Given the description of an element on the screen output the (x, y) to click on. 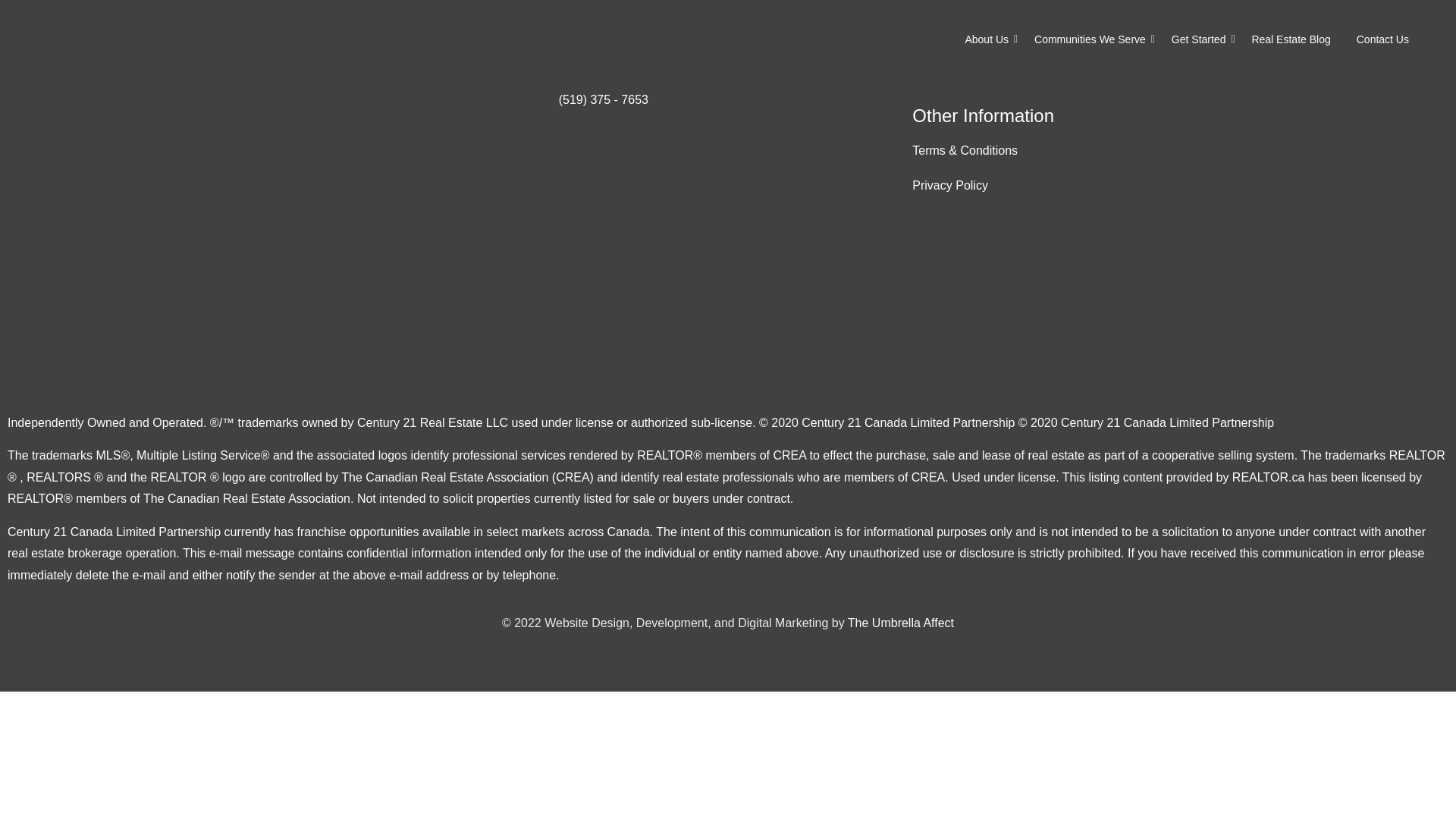
Get Started (1198, 39)
REALTOR.ca (1267, 477)
About Us (986, 39)
Real Estate Blog (1290, 39)
Contact Us (1382, 39)
CREA (789, 454)
CREA (927, 477)
Communities We Serve (1090, 39)
